Given the description of an element on the screen output the (x, y) to click on. 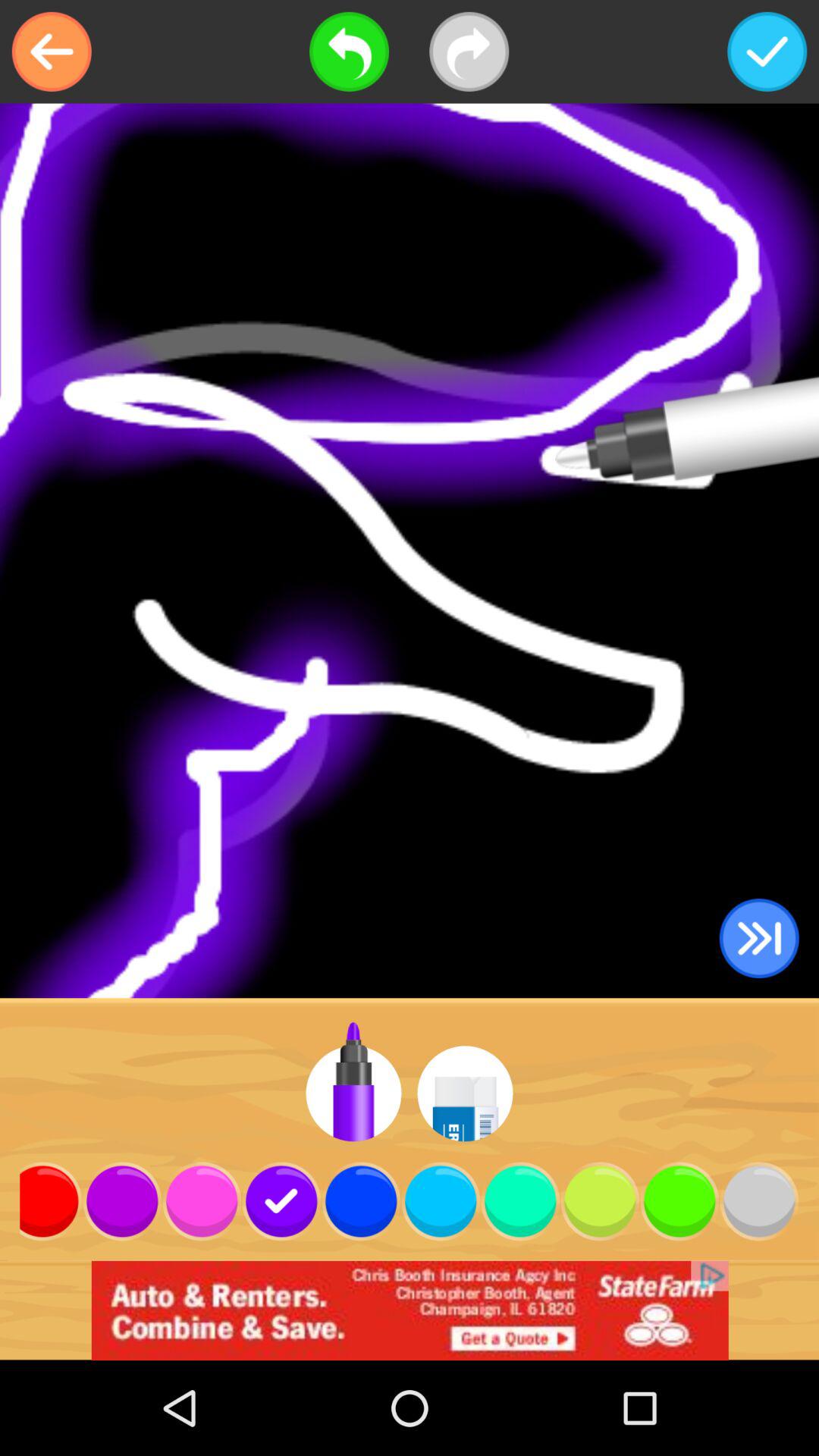
click to advertisement (409, 1310)
